Given the description of an element on the screen output the (x, y) to click on. 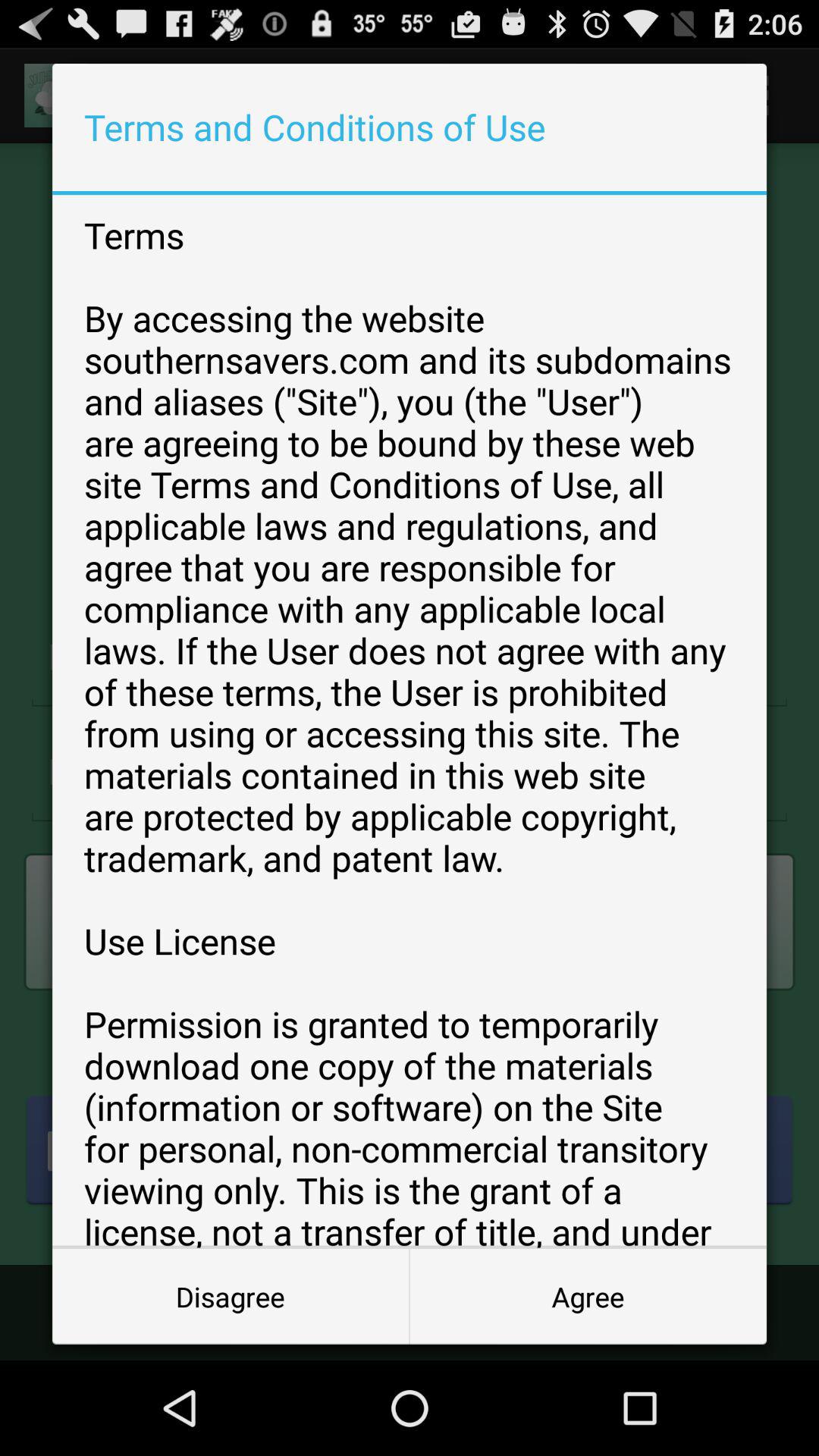
open the item below the terms by accessing (588, 1296)
